Given the description of an element on the screen output the (x, y) to click on. 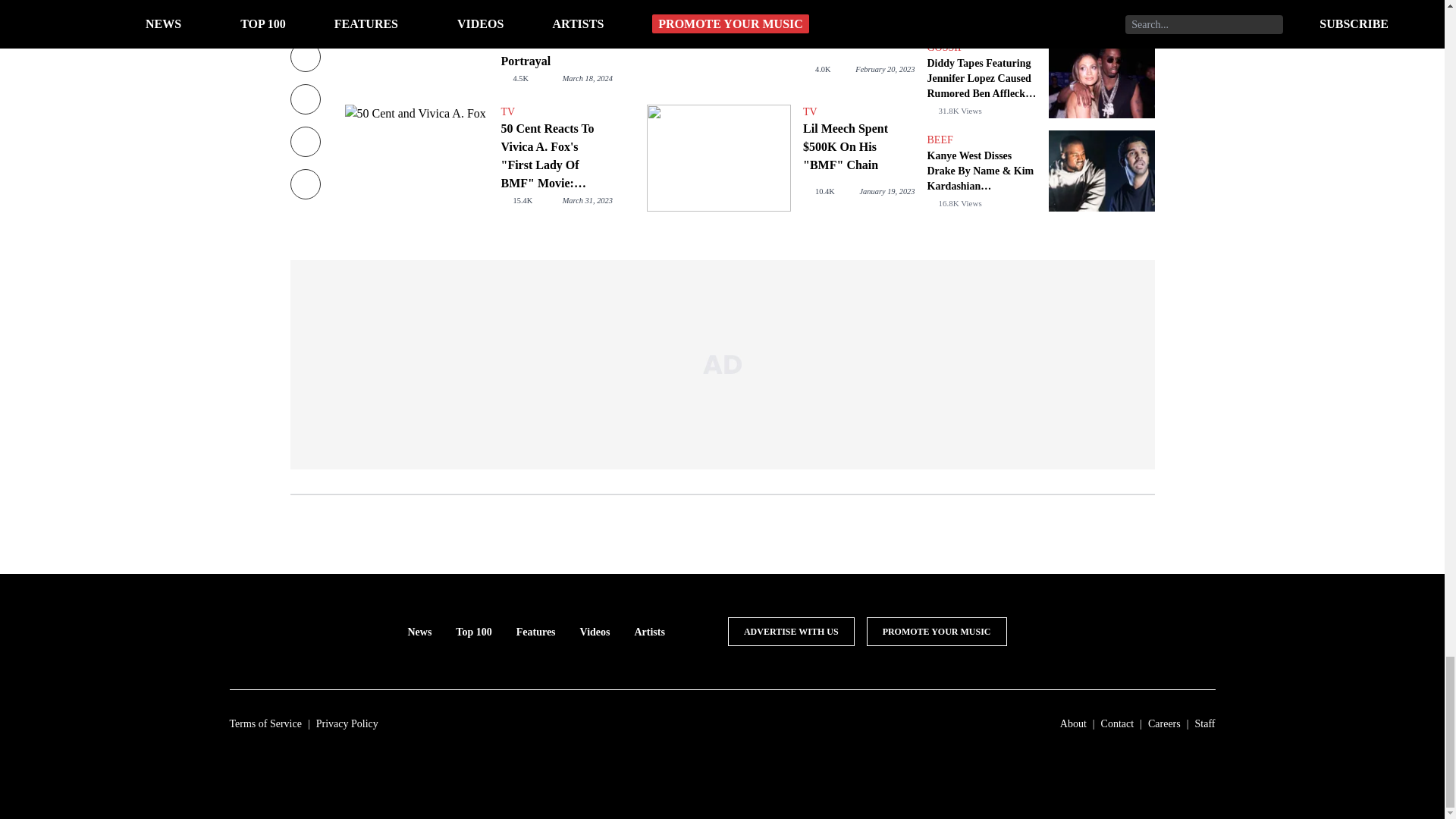
TV (555, 111)
January 19, 2023 (886, 191)
Tonesa Welch Admits She's "Not Happy" About "BMF" Portrayal (415, 44)
TV (858, 111)
Tonesa Welch Admits She's "Not Happy" About "BMF" Portrayal (555, 35)
February 20, 2023 (885, 69)
March 31, 2023 (587, 200)
March 18, 2024 (587, 78)
